Given the description of an element on the screen output the (x, y) to click on. 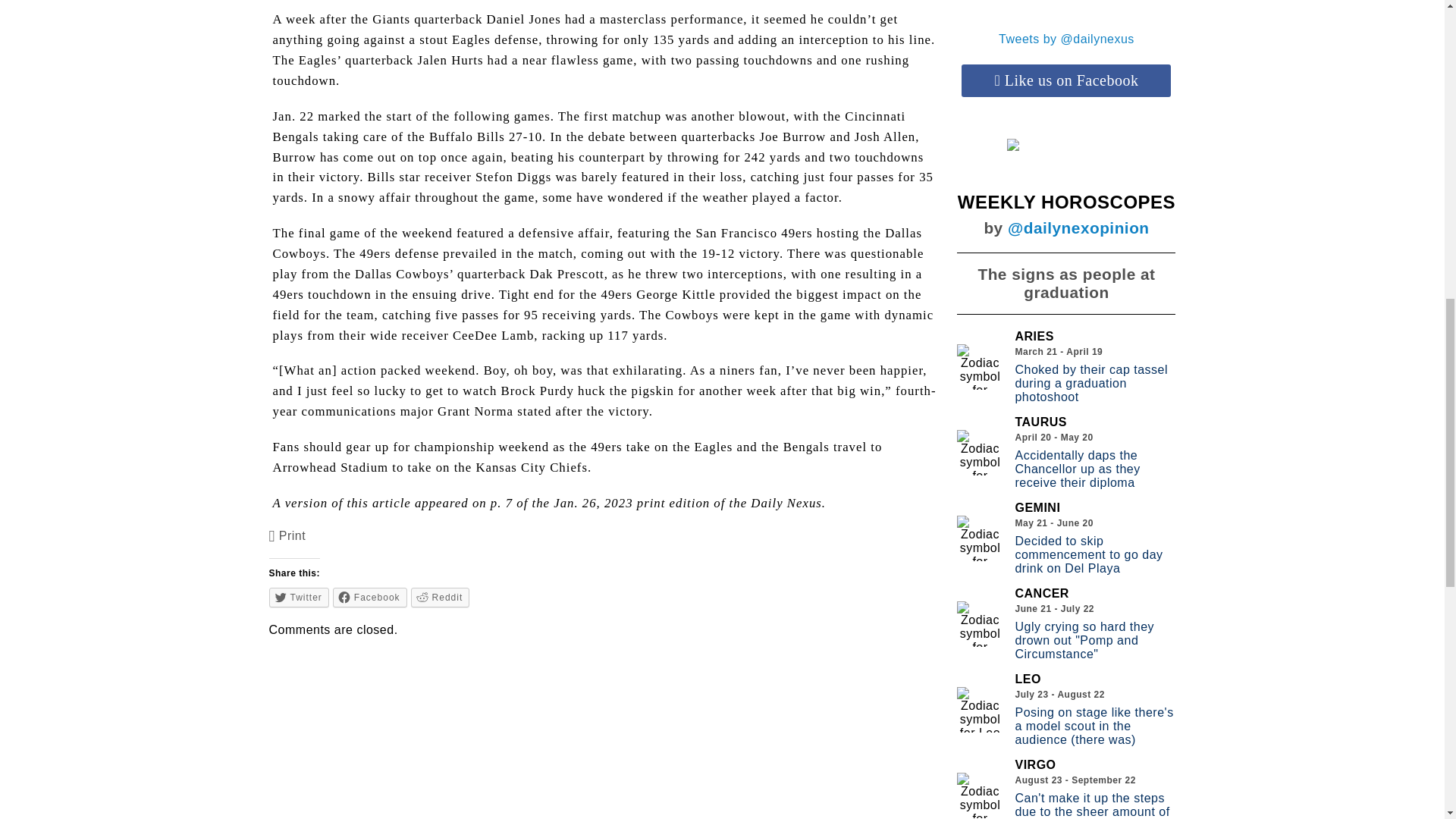
Click to share on Twitter (299, 597)
Click to share on Reddit (440, 597)
Click to share on Facebook (370, 597)
